Given the description of an element on the screen output the (x, y) to click on. 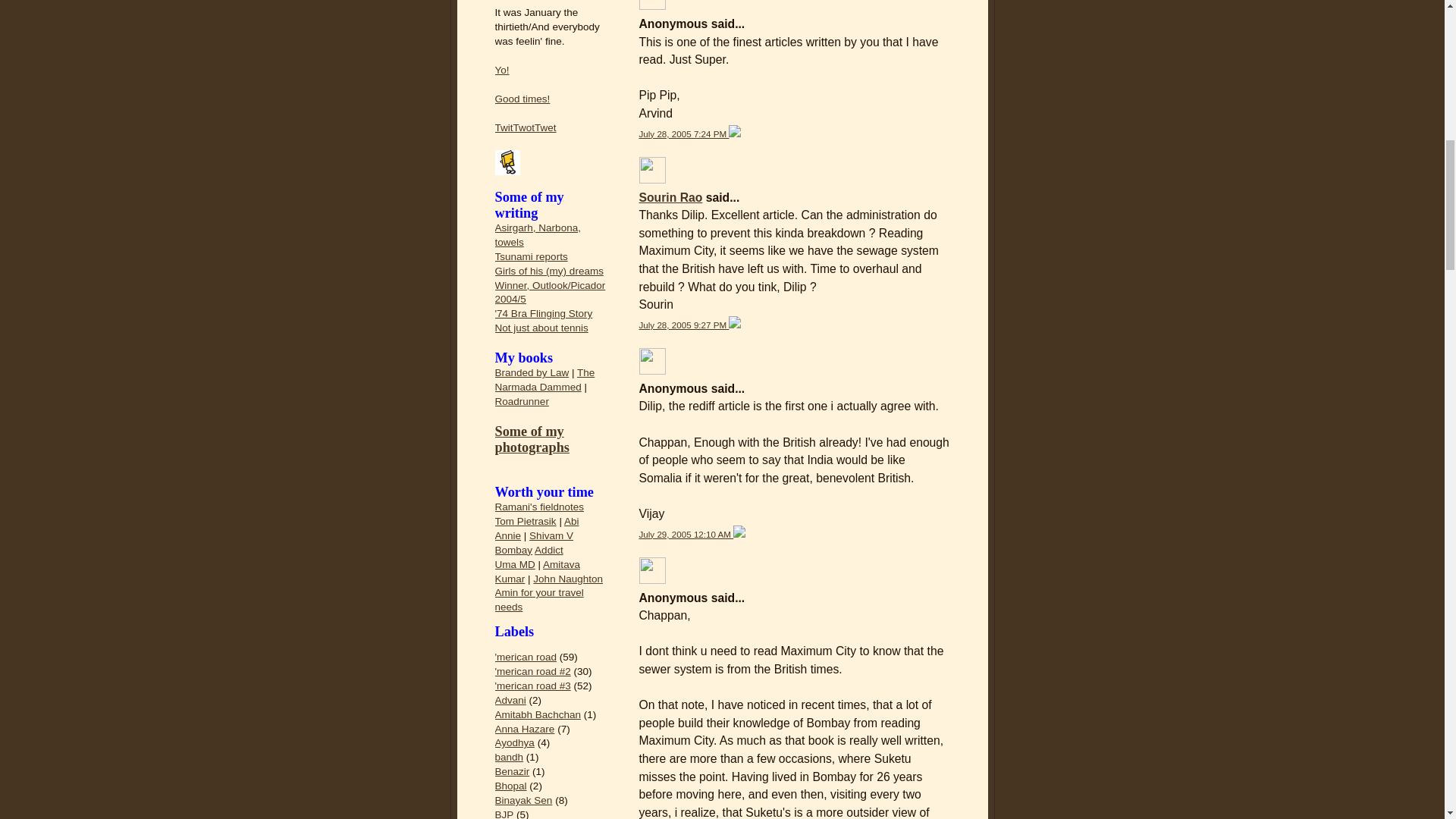
'74 Bra Flinging Story (543, 313)
Anonymous (652, 361)
Amitava Kumar (537, 571)
Anonymous (652, 4)
Ramani's fieldnotes (539, 506)
Roadrunner (521, 401)
Some of my photographs (532, 439)
comment permalink (686, 533)
Branded by Law (532, 372)
Yo! (501, 70)
Advani (510, 699)
Delete Comment (735, 133)
Asirgarh, Narbona, towels (537, 234)
The Narmada Dammed (544, 379)
Abi (571, 521)
